Given the description of an element on the screen output the (x, y) to click on. 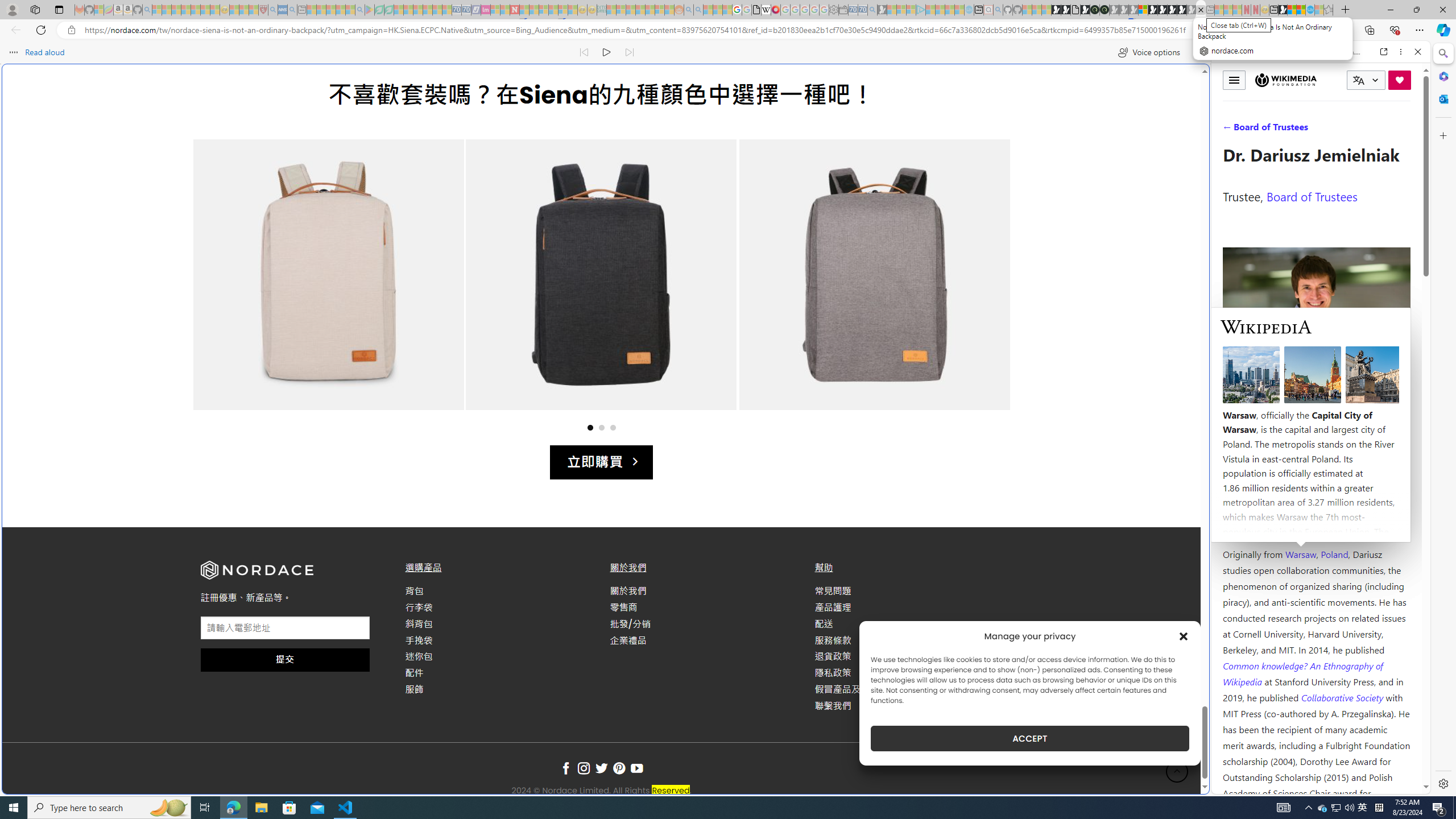
Toggle menu (1233, 80)
Harvard University (1259, 526)
